Given the description of an element on the screen output the (x, y) to click on. 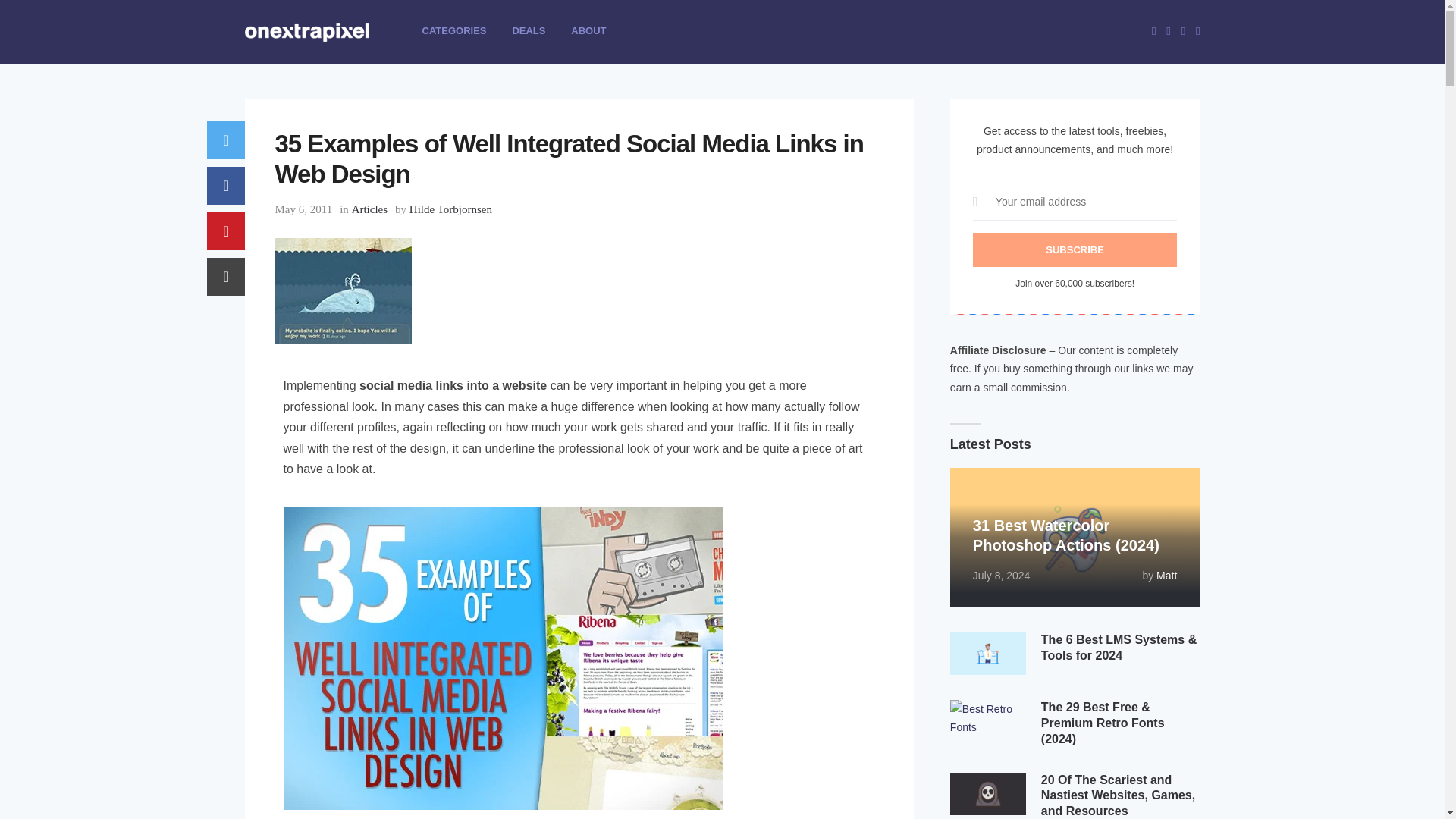
Onextrapixel (317, 54)
CATEGORIES (454, 30)
Hilde Torbjornsen (450, 209)
Articles (369, 209)
ABOUT (587, 30)
DEALS (528, 30)
Posts by Hilde Torbjornsen (450, 209)
